Given the description of an element on the screen output the (x, y) to click on. 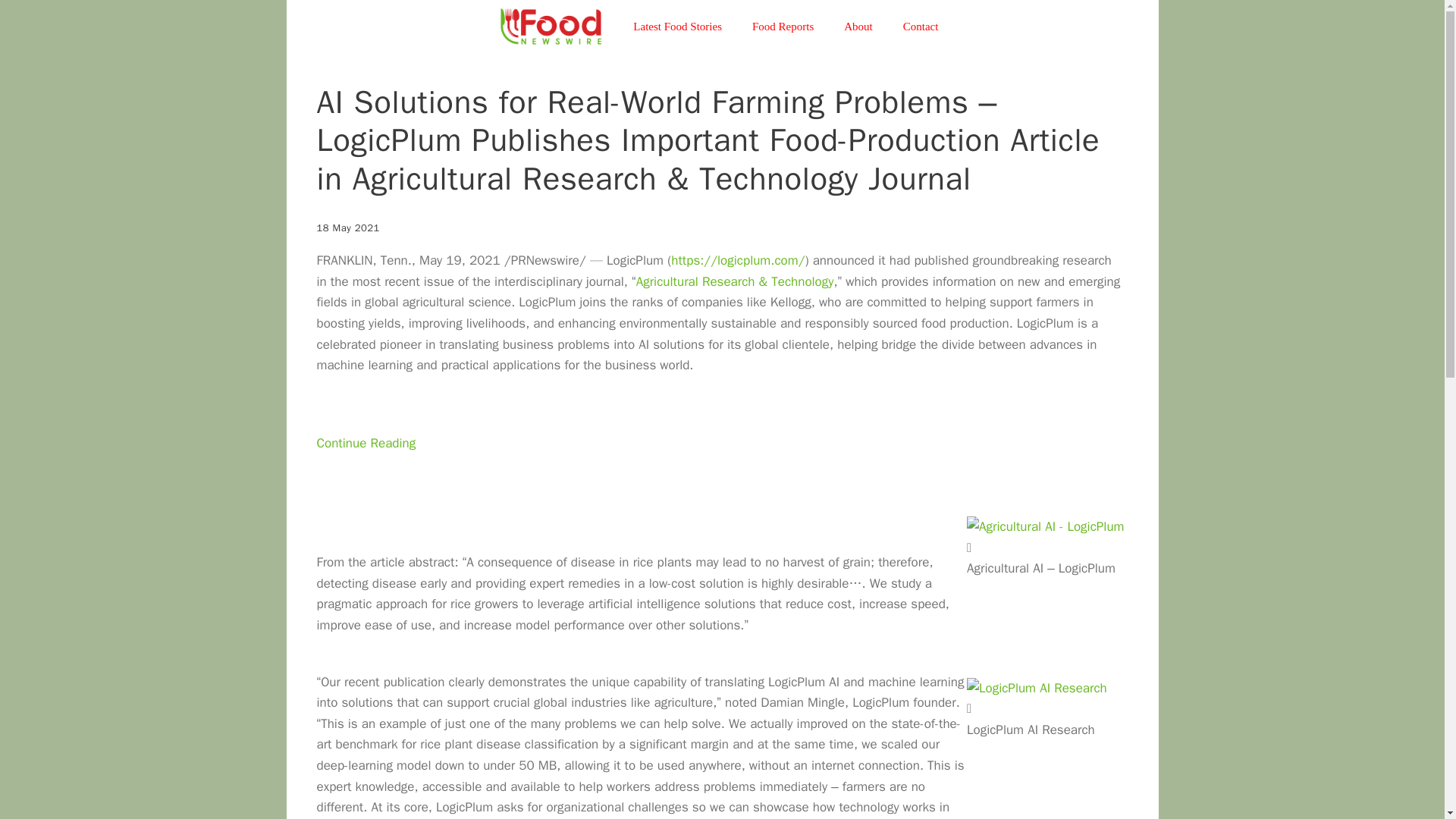
Food Newswire (555, 26)
Agricultural AI - LogicPlum (1045, 526)
LogicPlum AI Research (1036, 688)
Continue Reading (366, 463)
Contact (920, 26)
Food Reports (782, 26)
Latest Food Stories (676, 26)
Continue Reading (366, 463)
Food Newswire (551, 26)
About (858, 26)
